Given the description of an element on the screen output the (x, y) to click on. 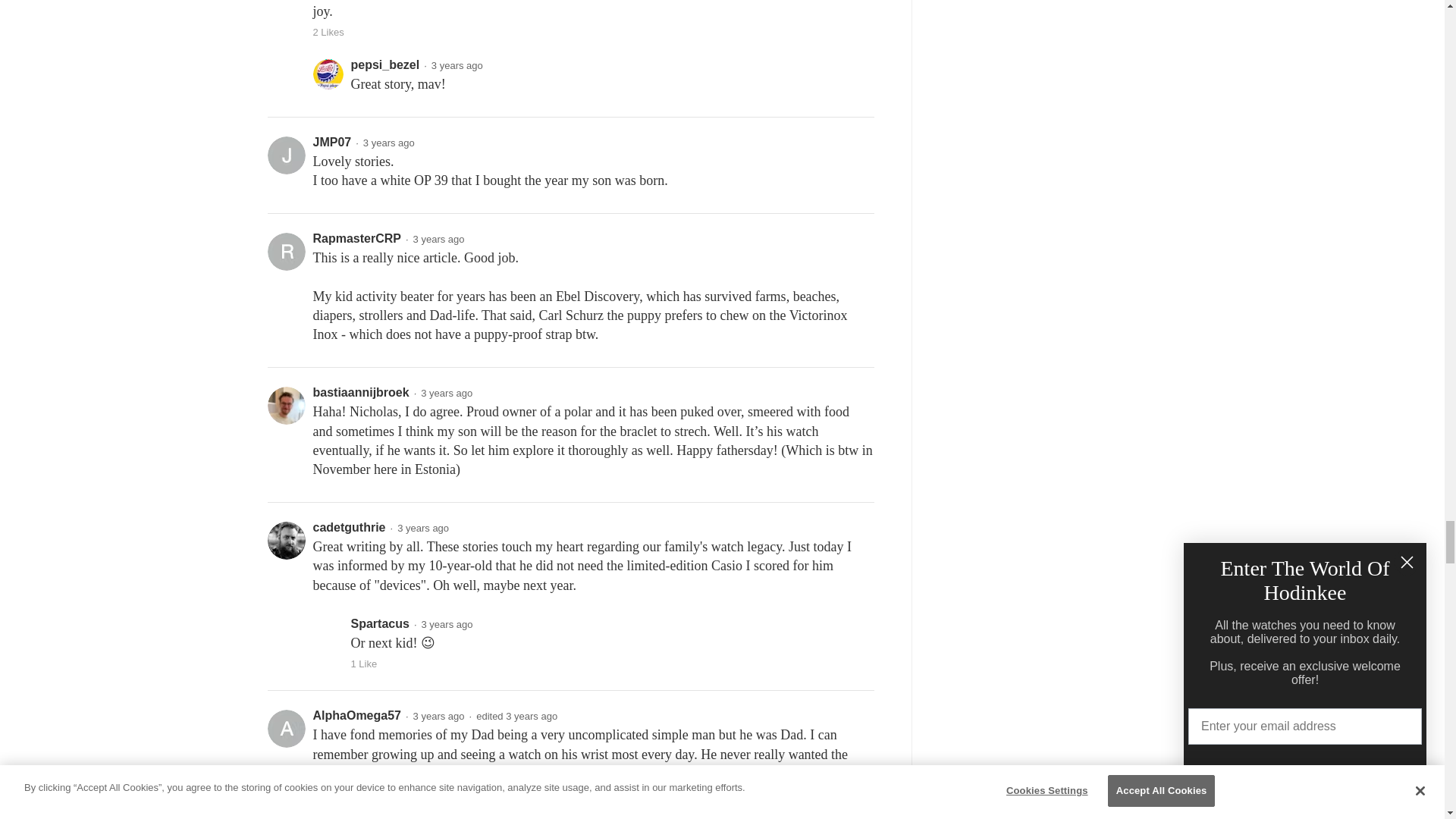
2021-06-17 12:40 (438, 238)
2021-06-17 06:45 (447, 624)
2021-06-17 05:44 (422, 527)
2021-06-17 13:33 (388, 142)
2021-06-17 10:10 (445, 392)
2021-06-18 12:49 (456, 65)
